Given the description of an element on the screen output the (x, y) to click on. 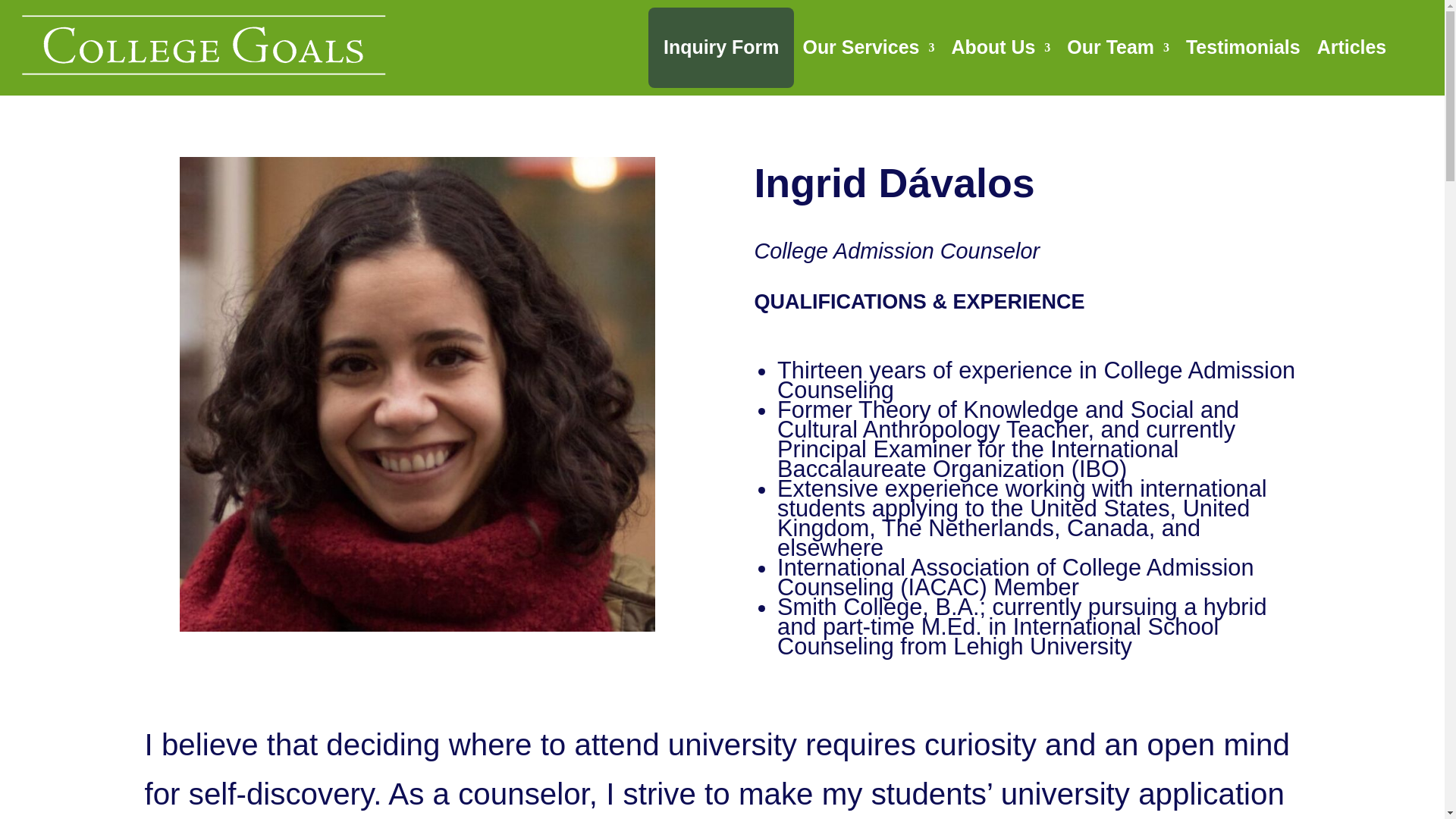
Our Services (868, 47)
Inquiry Form (720, 47)
Testimonials (1243, 47)
Our Team (1118, 47)
About Us (999, 47)
